Given the description of an element on the screen output the (x, y) to click on. 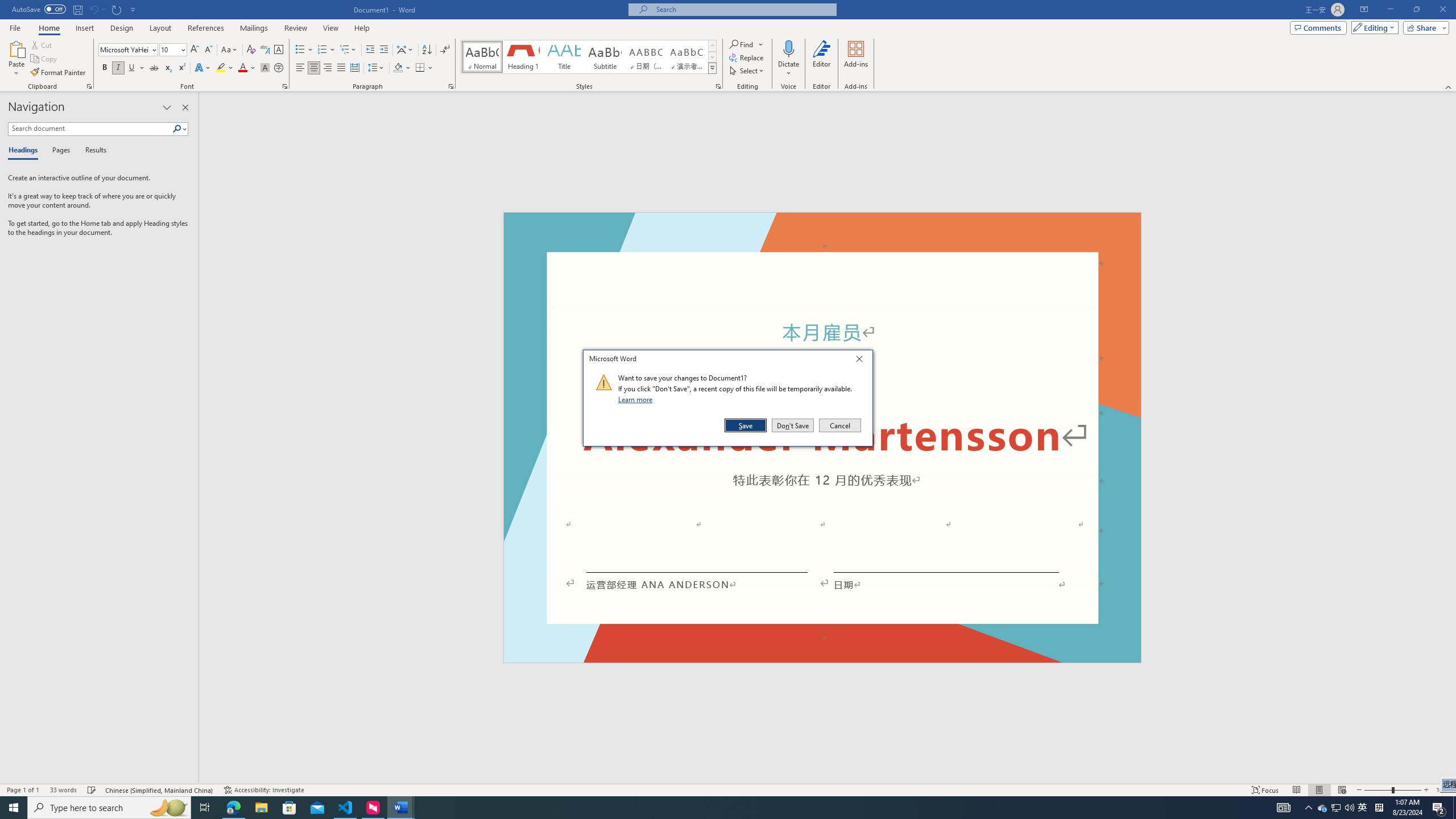
Can't Undo (92, 9)
Can't Undo (96, 9)
Footer -Section 1- (822, 657)
